Given the description of an element on the screen output the (x, y) to click on. 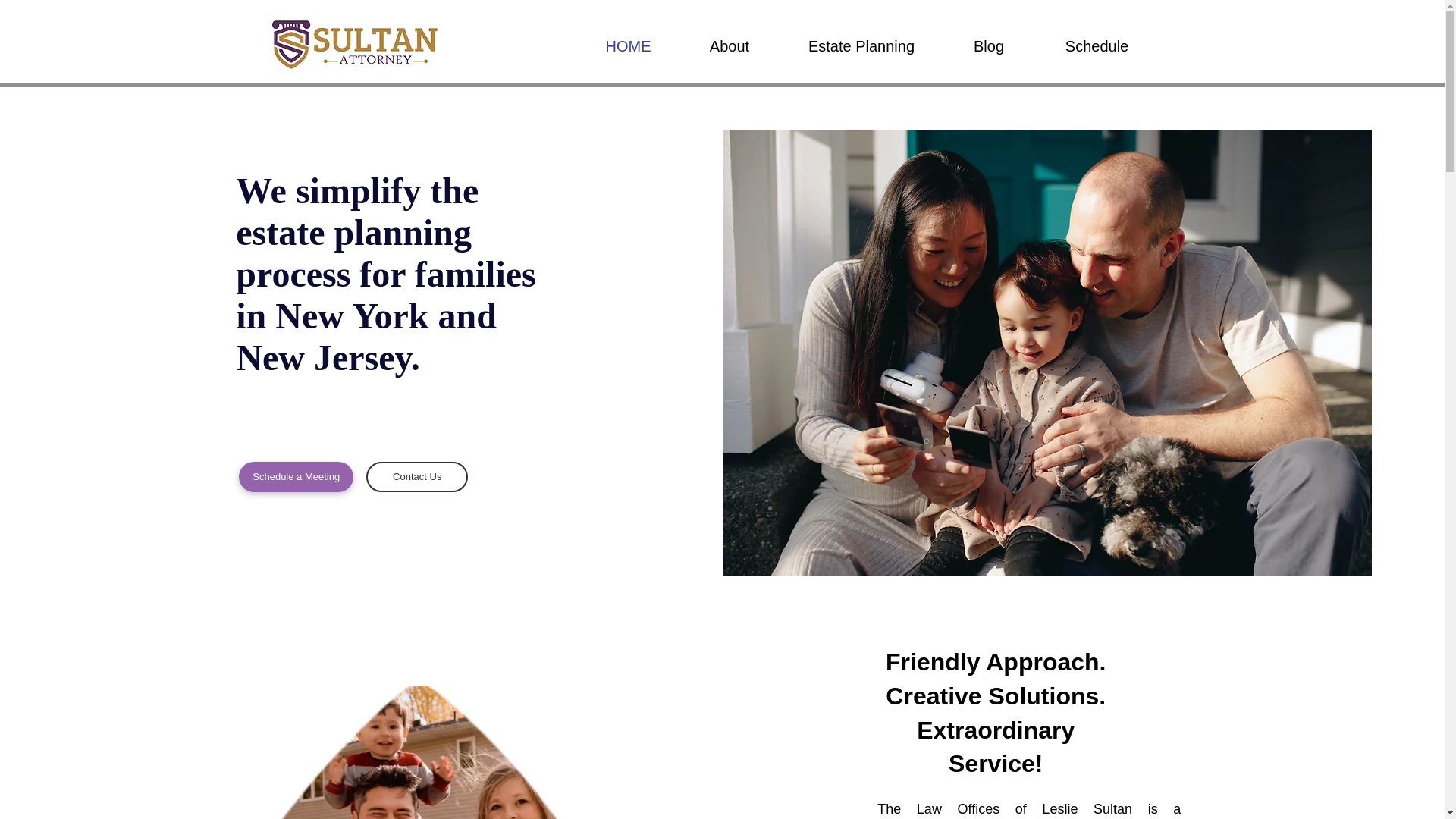
Blog (988, 46)
Schedule a Meeting (295, 476)
51435.jpg (421, 752)
Estate Planning (861, 46)
HOME (628, 46)
Schedule (1096, 46)
Contact Us (416, 476)
About (729, 46)
